Given the description of an element on the screen output the (x, y) to click on. 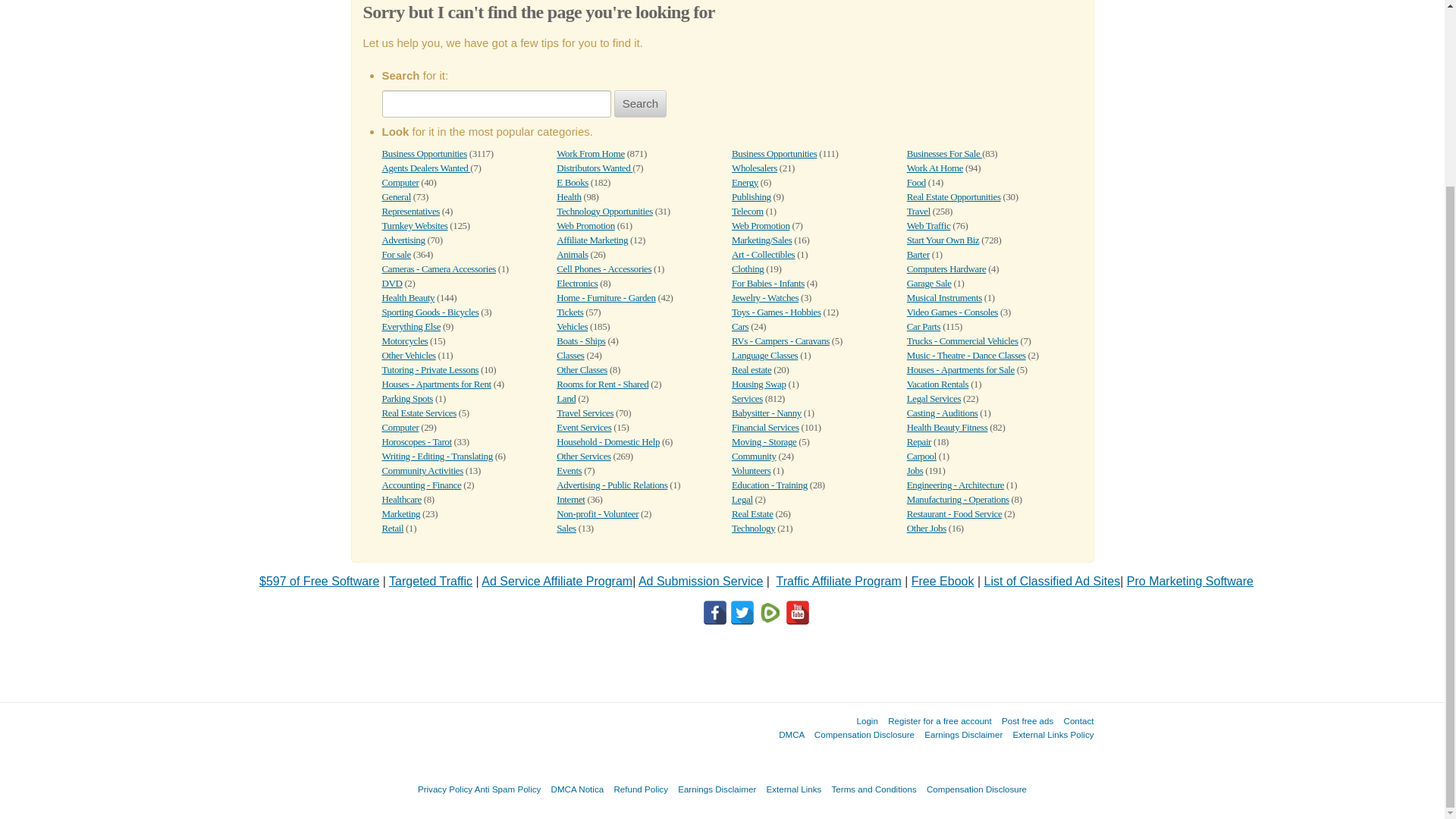
Agents Dealers Wanted (425, 167)
Technology Opportunities (604, 211)
For sale (395, 254)
Affiliate Marketing (591, 239)
Work At Home (934, 167)
Turnkey Websites (414, 225)
Web Promotion (761, 225)
Search (640, 103)
Representatives (410, 211)
Wholesalers (754, 167)
Barter (918, 254)
Businesses For Sale (944, 153)
General (395, 196)
Web Promotion (585, 225)
Publishing (751, 196)
